Given the description of an element on the screen output the (x, y) to click on. 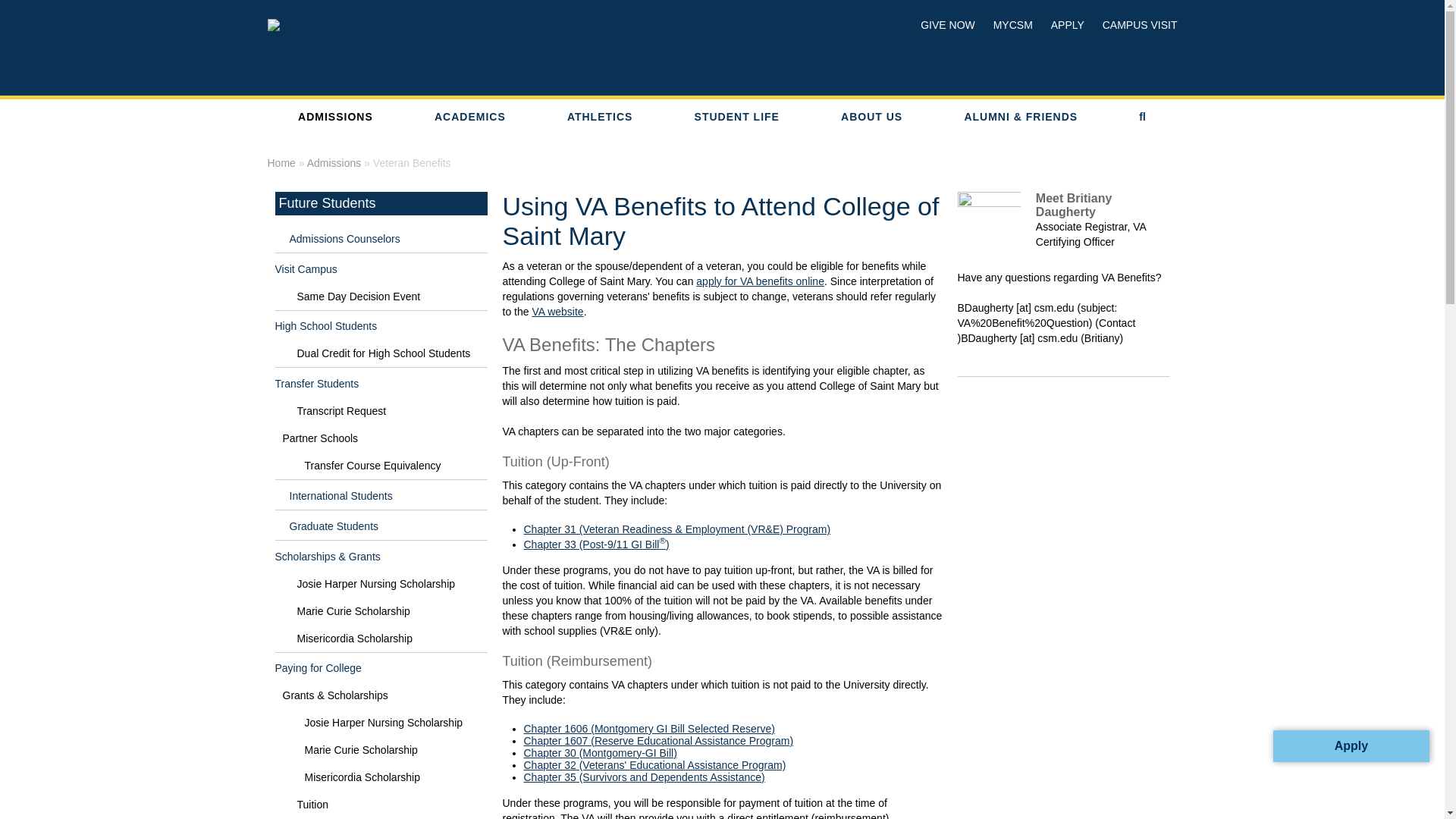
Athletics (599, 116)
ACADEMICS (469, 116)
CAMPUS VISIT (1132, 28)
APPLY (1059, 28)
Home (436, 28)
MYCSM (1005, 28)
ADMISSIONS (334, 116)
GIVE NOW (940, 28)
